Given the description of an element on the screen output the (x, y) to click on. 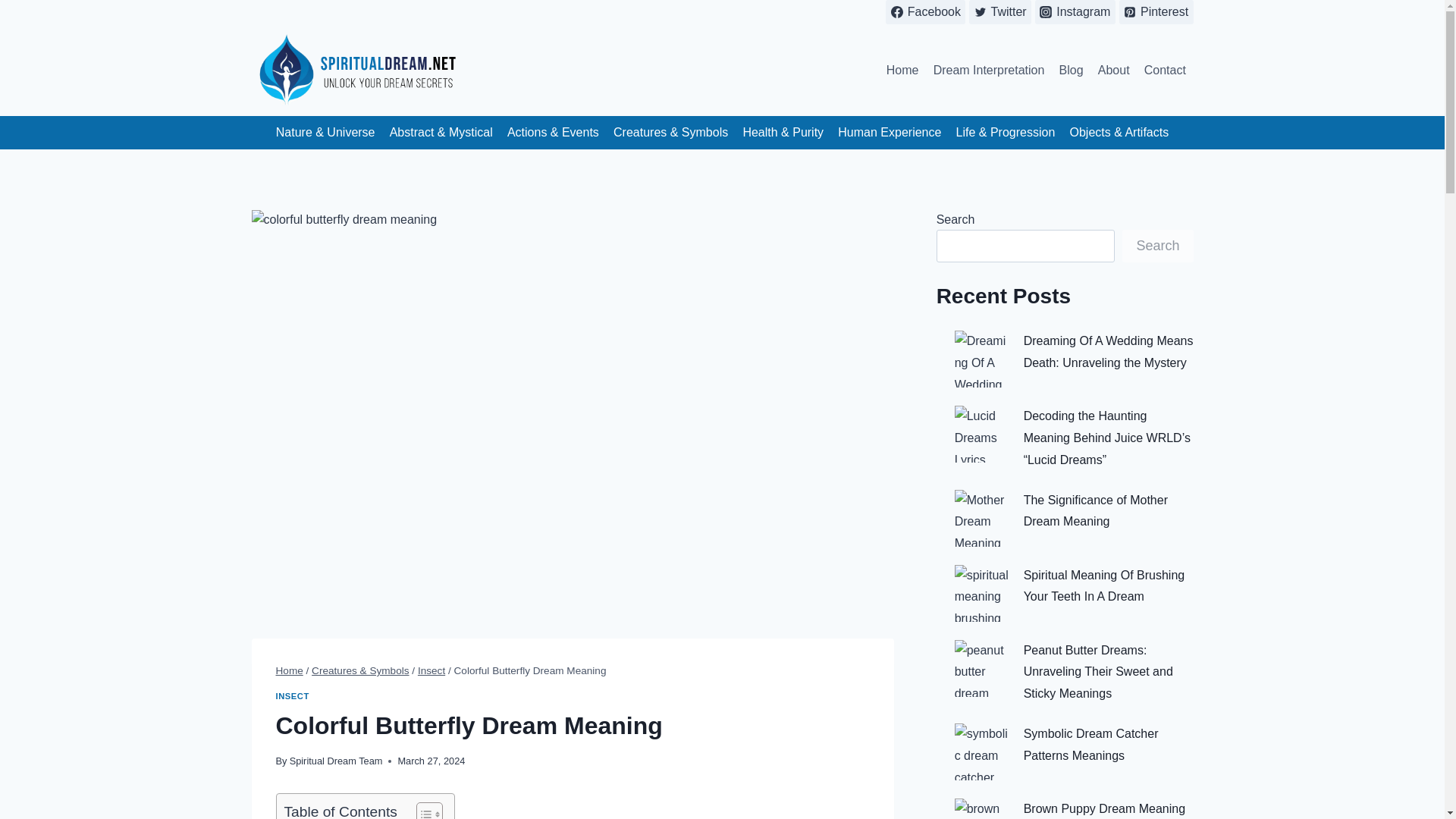
Blog (1070, 69)
Home (902, 69)
Twitter (999, 12)
Insect (431, 670)
About (1113, 69)
Facebook (925, 12)
Home (289, 670)
Instagram (1075, 12)
Spiritual Dream Team (335, 760)
INSECT (292, 696)
